Given the description of an element on the screen output the (x, y) to click on. 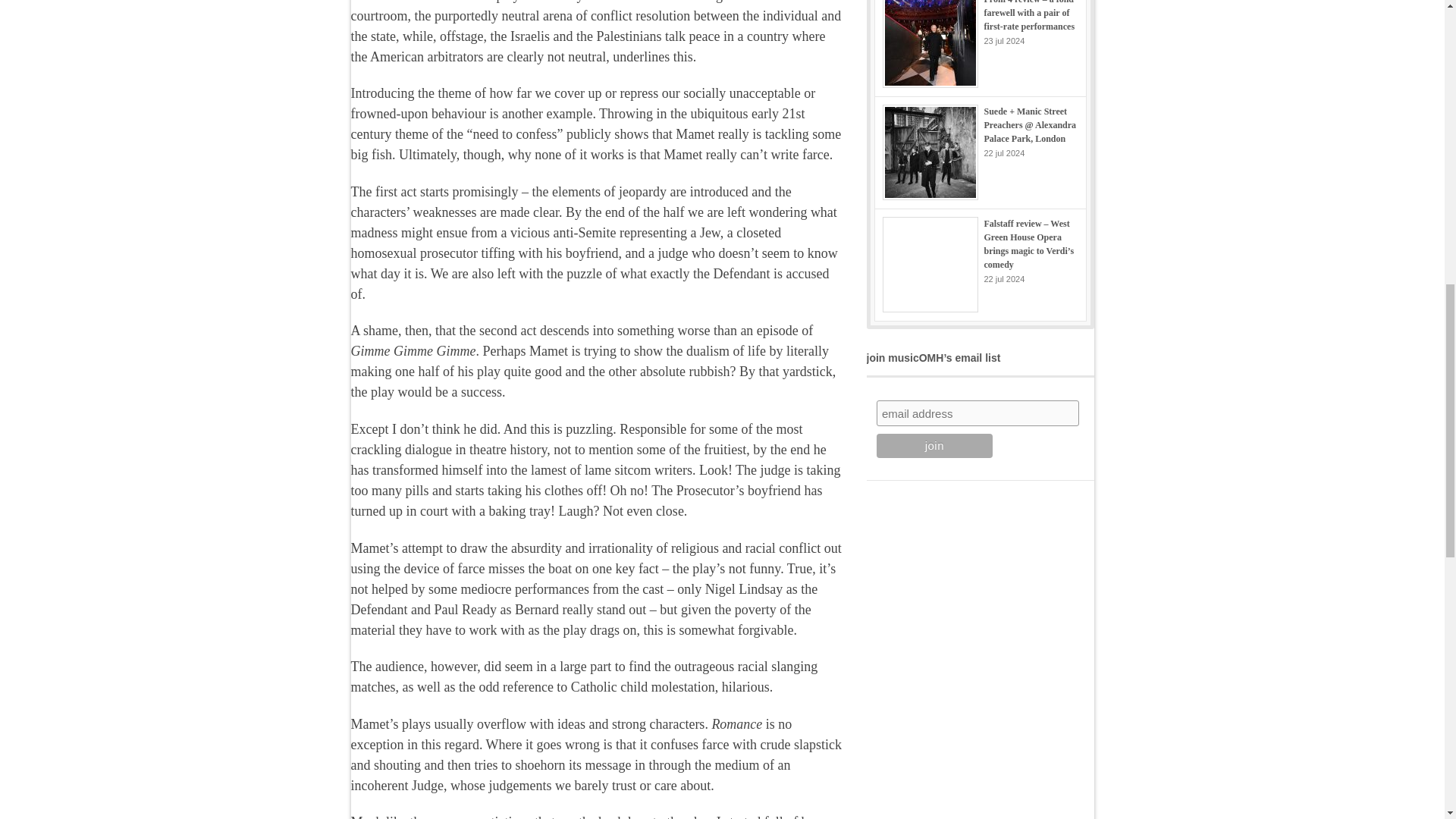
join (934, 445)
join (934, 445)
